Given the description of an element on the screen output the (x, y) to click on. 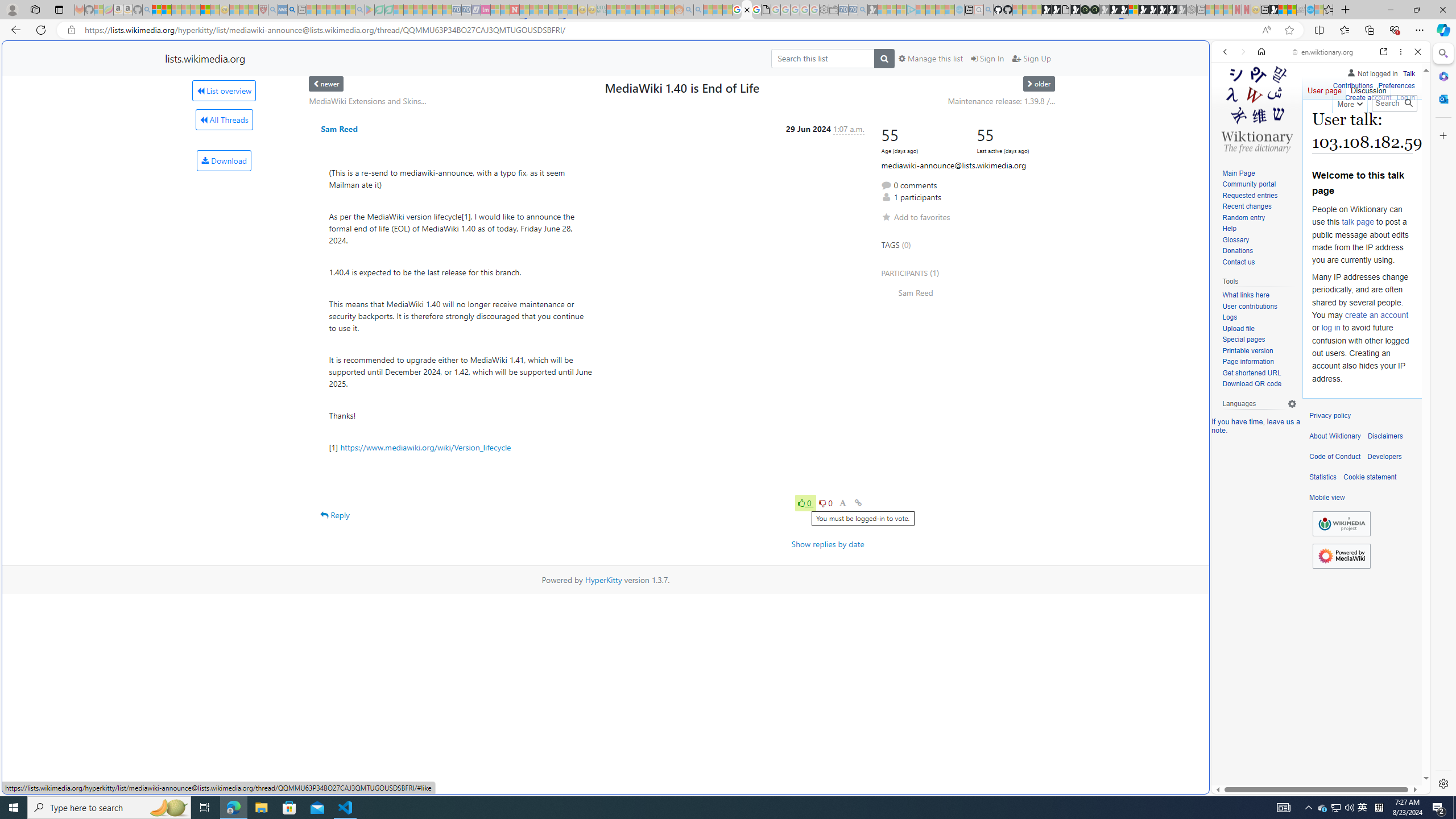
Log in (1405, 98)
Sam Reed (339, 128)
Community portal (1248, 184)
